Given the description of an element on the screen output the (x, y) to click on. 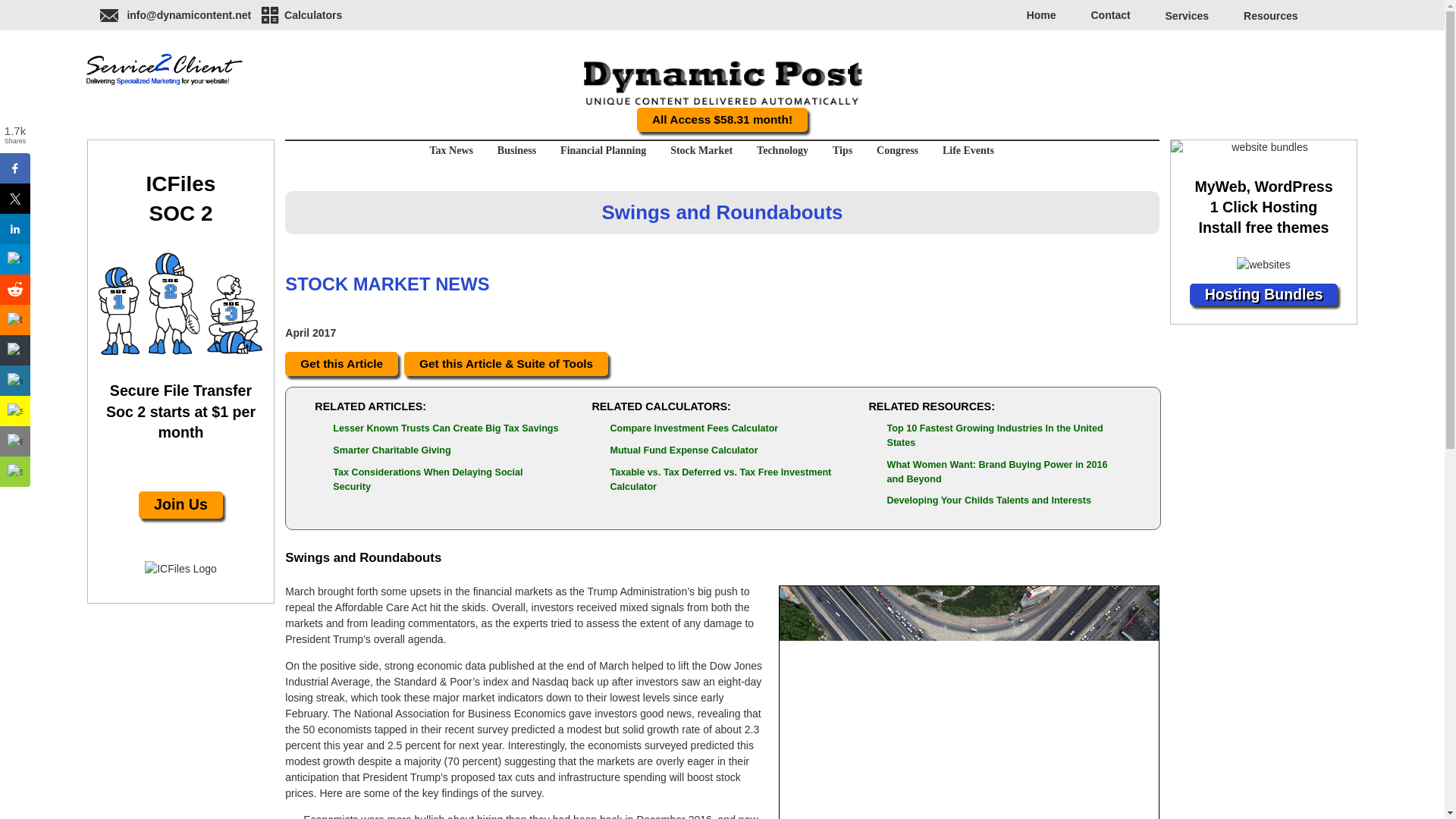
Top 10 Fastest Growing Industries In the United States (994, 435)
Join Us (180, 504)
Dynamic Content (164, 69)
Congress (897, 150)
Contact (1110, 15)
Tax Considerations When Delaying Social Security (427, 479)
Stock Market (700, 150)
Mutual Fund Expense Calculator (683, 450)
Tax News (454, 150)
Technology (781, 150)
 Calculators (300, 14)
Life Events (962, 150)
Get this Article (341, 363)
Compare Investment Fees Calculator (693, 428)
Tips (842, 150)
